Given the description of an element on the screen output the (x, y) to click on. 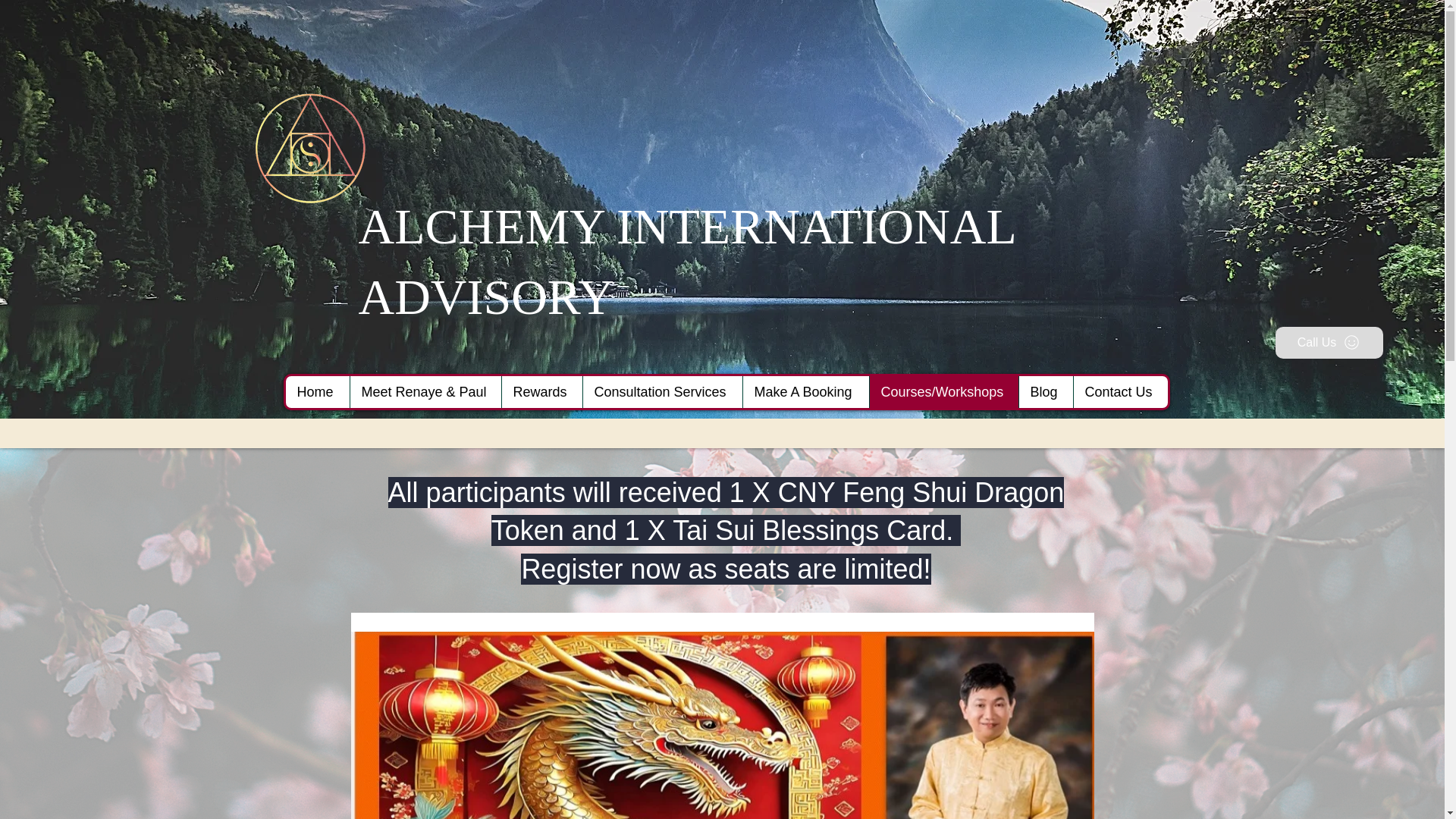
Call Us (1329, 342)
Blog (1044, 391)
Logo with 4 elements (309, 149)
Rewards (540, 391)
Consultation Services (662, 391)
Make A Booking (804, 391)
Contact Us (1119, 391)
Home (317, 391)
